Given the description of an element on the screen output the (x, y) to click on. 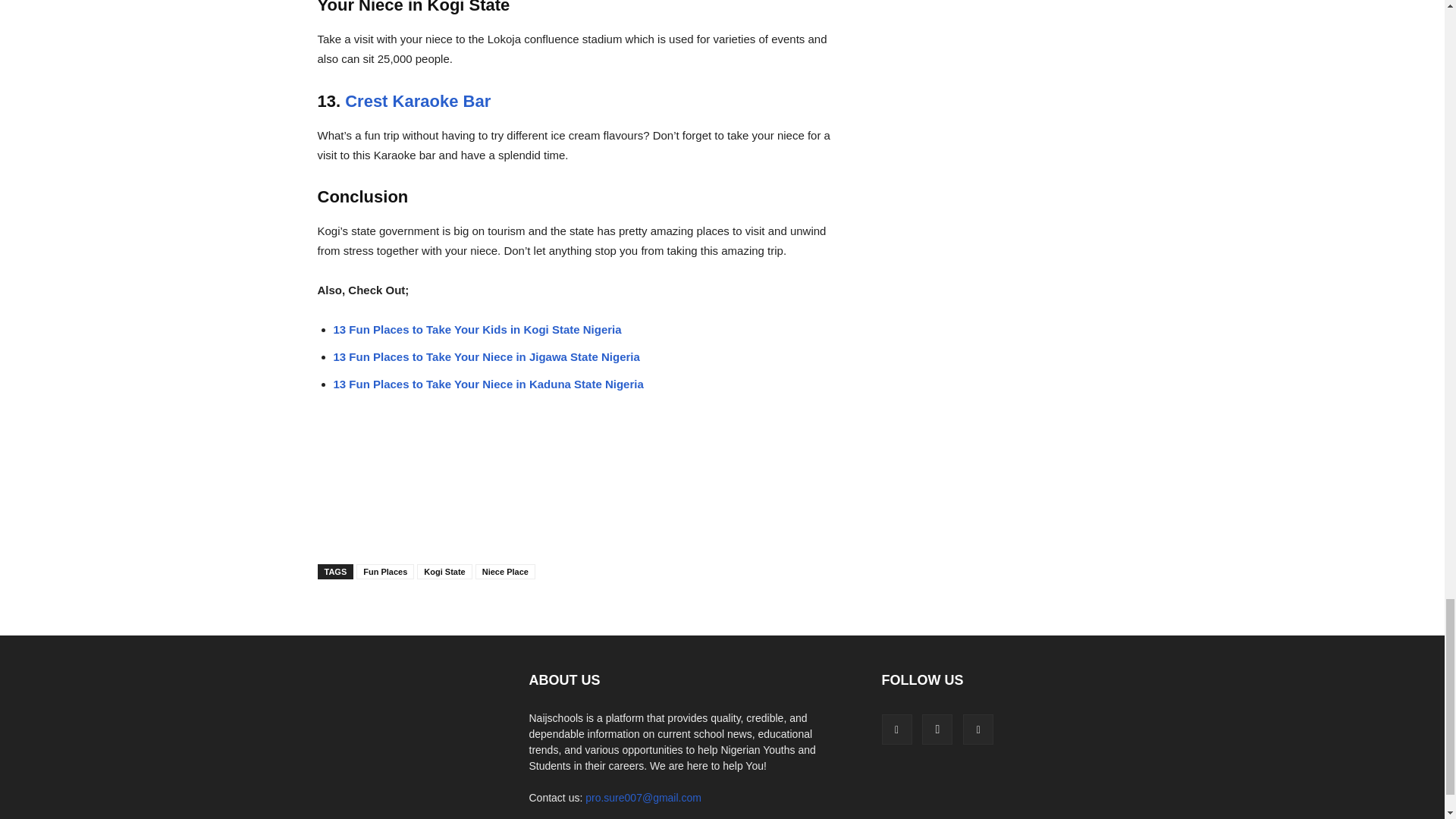
13 Fun Places to Take Your Kids in Kogi State Nigeria (477, 328)
Twitter (977, 729)
Facebook (895, 729)
13 Fun Places to Take Your Niece in Kaduna State Nigeria (488, 383)
13 Fun Places to Take Your Niece in Jigawa State Nigeria (486, 356)
Instagram (936, 729)
